Given the description of an element on the screen output the (x, y) to click on. 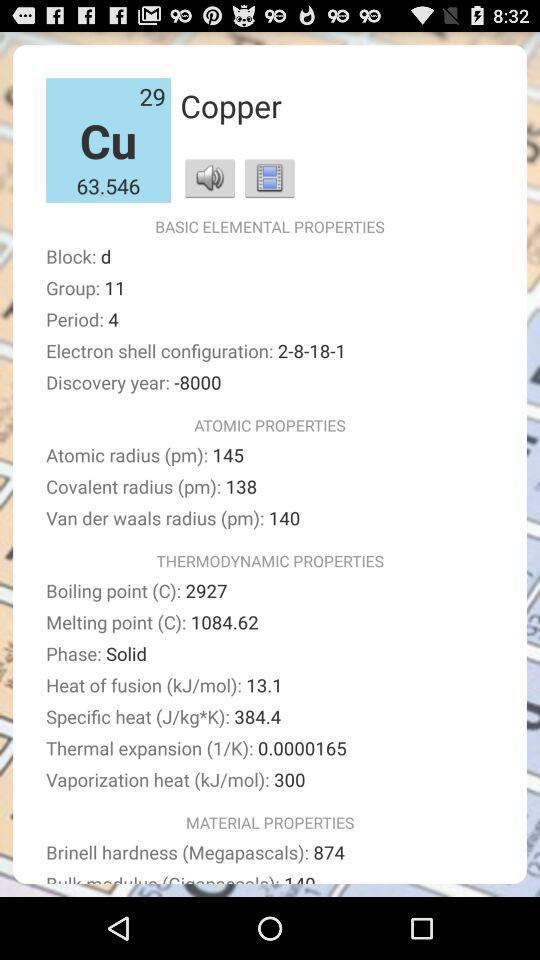
launch item to the right of 63.546 item (210, 177)
